Given the description of an element on the screen output the (x, y) to click on. 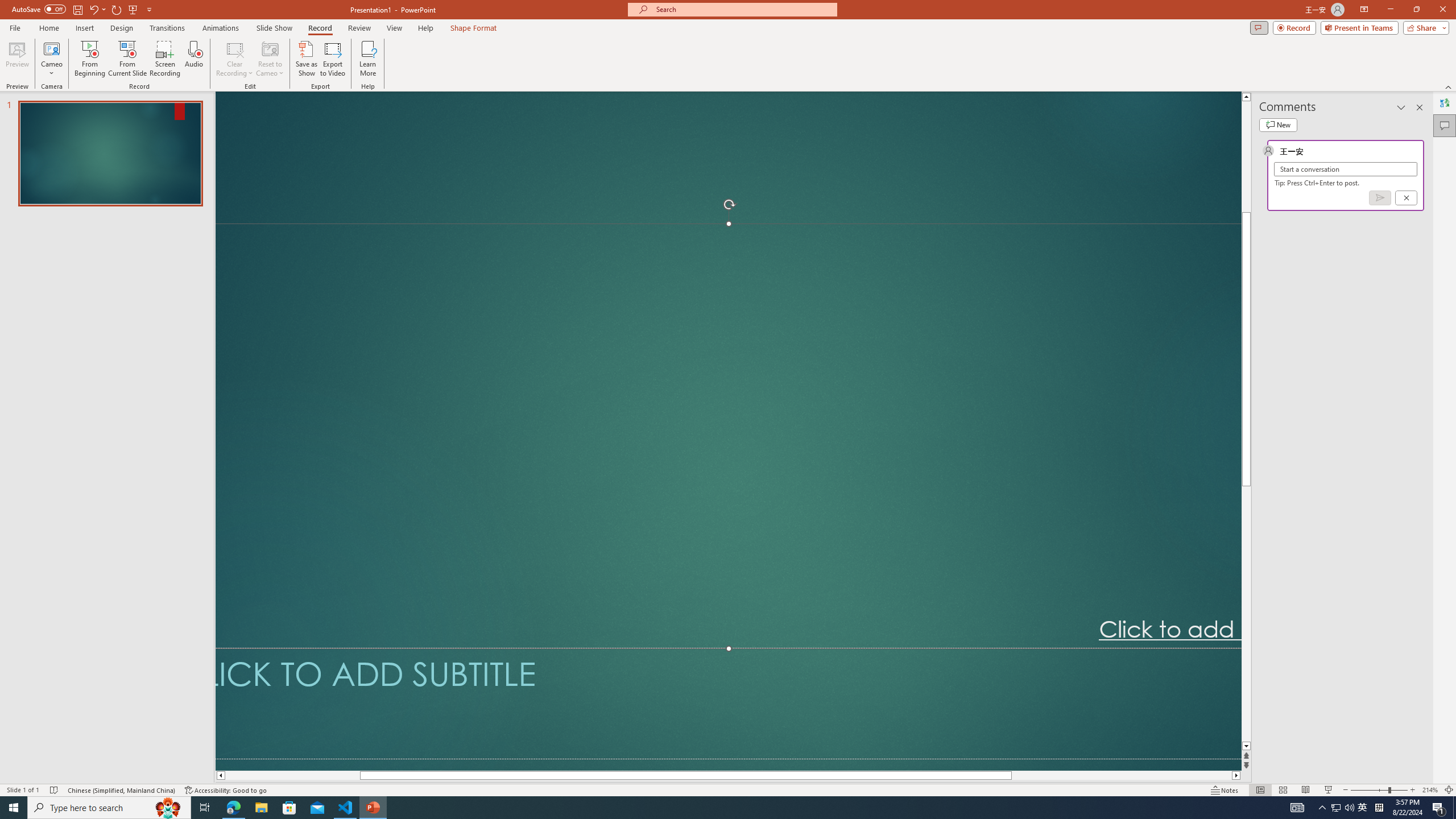
Start a conversation (1344, 168)
